Given the description of an element on the screen output the (x, y) to click on. 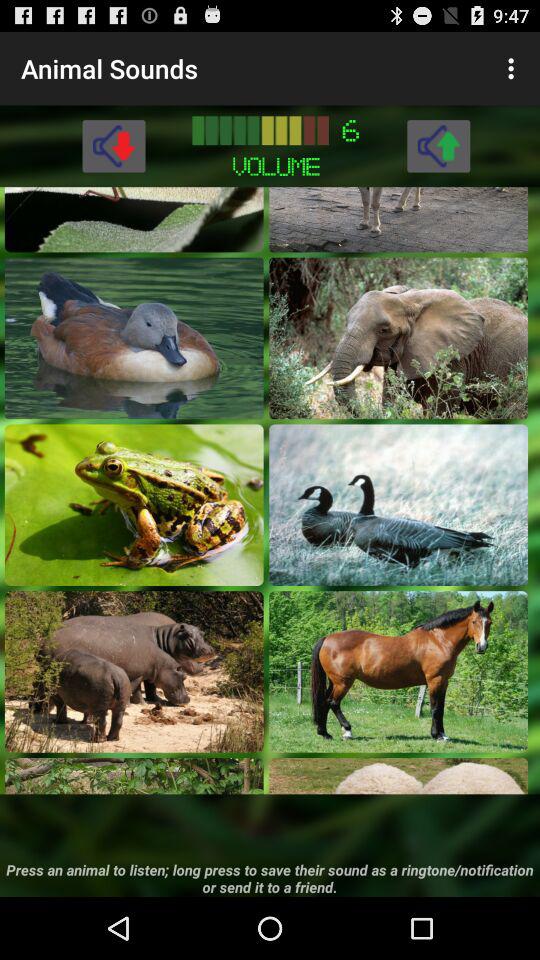
select highlighted image (398, 775)
